Given the description of an element on the screen output the (x, y) to click on. 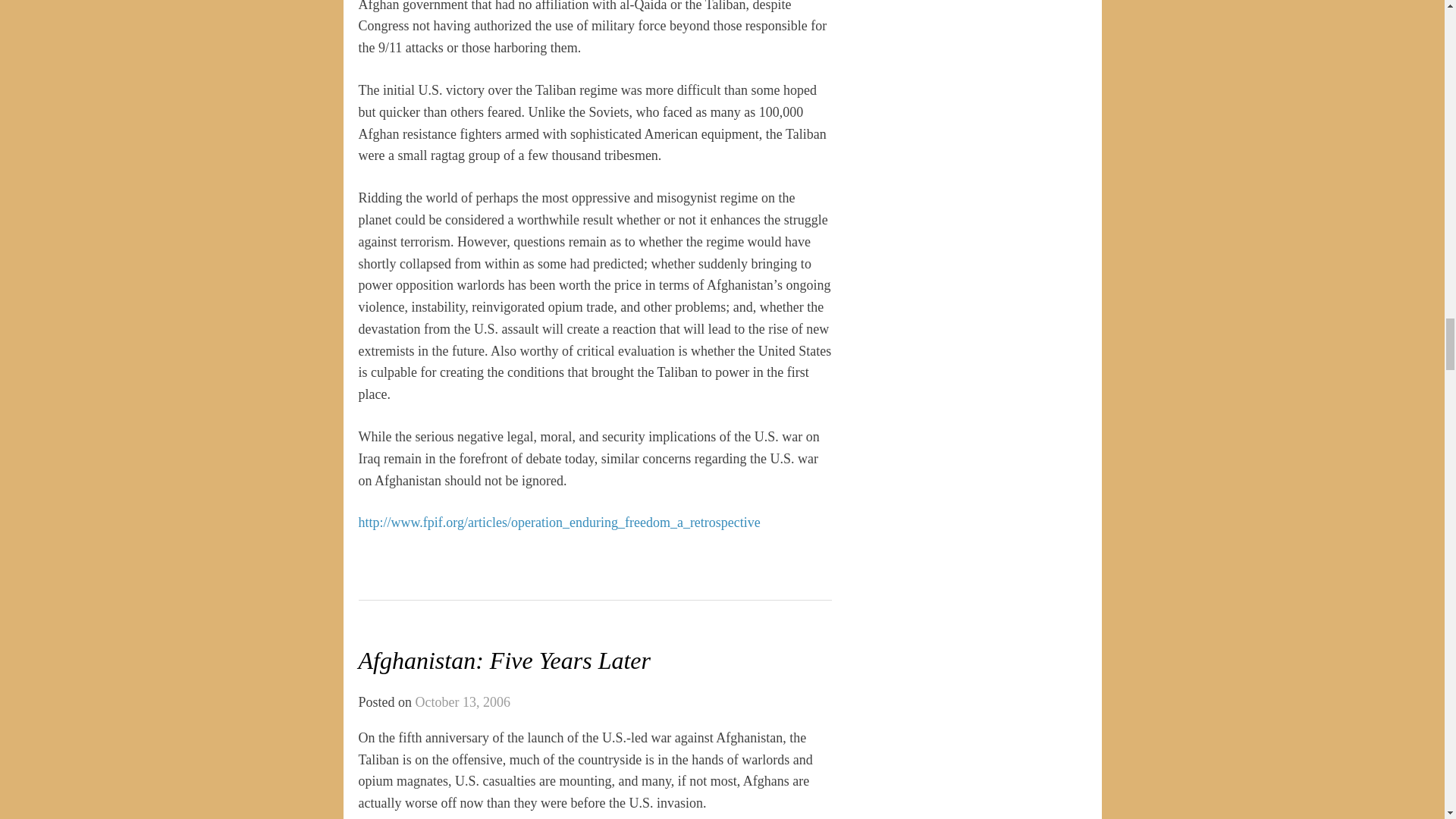
Afghanistan: Five Years Later (503, 660)
October 13, 2006 (462, 702)
